Given the description of an element on the screen output the (x, y) to click on. 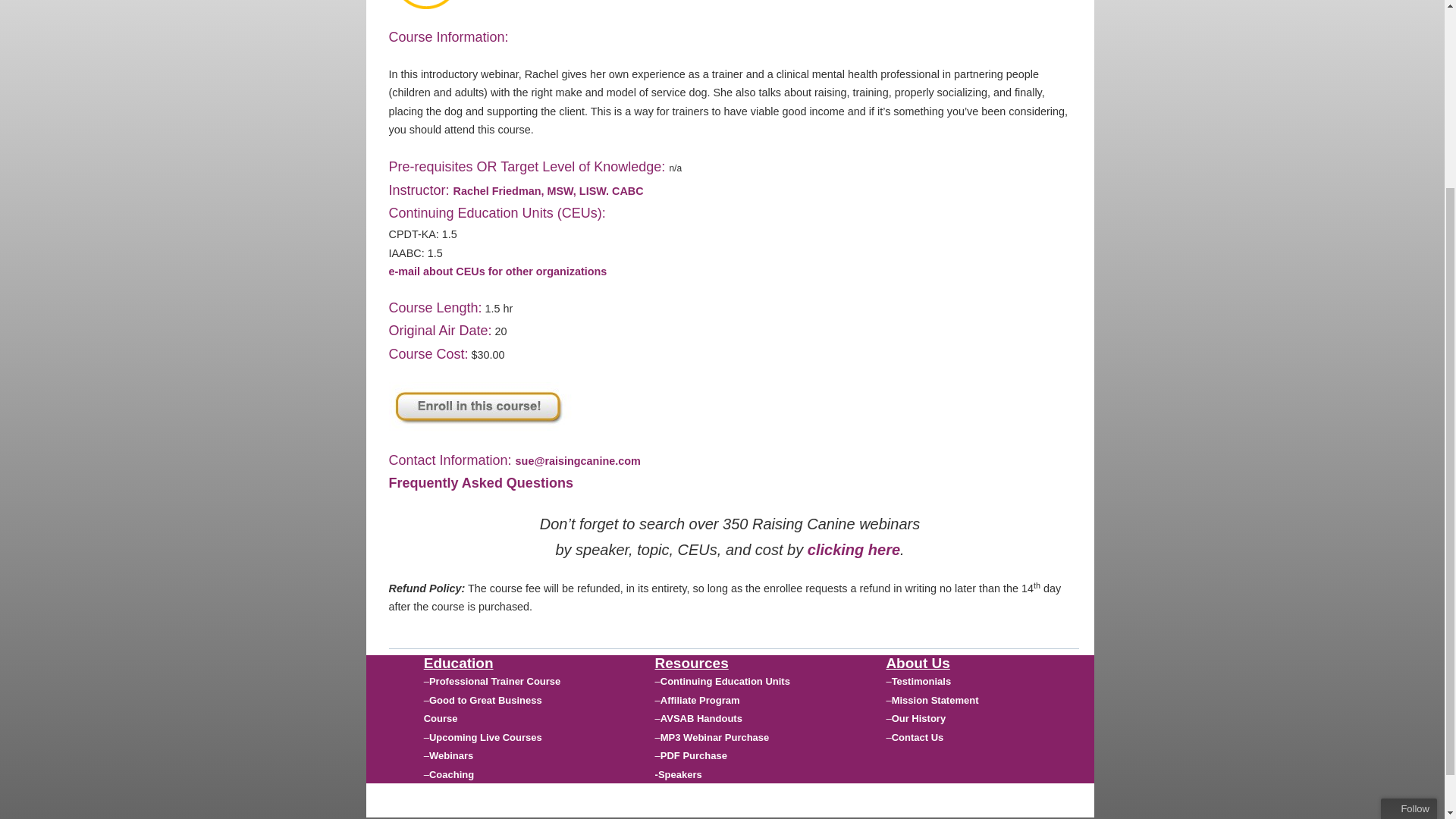
Good to Great Business Course (482, 708)
Continuing Education Units (725, 681)
-Speakers (678, 774)
clicking here (853, 549)
Our History (918, 717)
Coaching (451, 774)
Webinars (451, 755)
Frequently Asked Questions (480, 483)
Professional Trainer Course (494, 681)
Affiliate Program (700, 699)
Rachel Friedman, MSW, LISW. CABC (547, 191)
e-mail about CEUs for other organizations (497, 271)
Contact Us (917, 737)
Resources (692, 663)
AVSAB Handouts (701, 717)
